Given the description of an element on the screen output the (x, y) to click on. 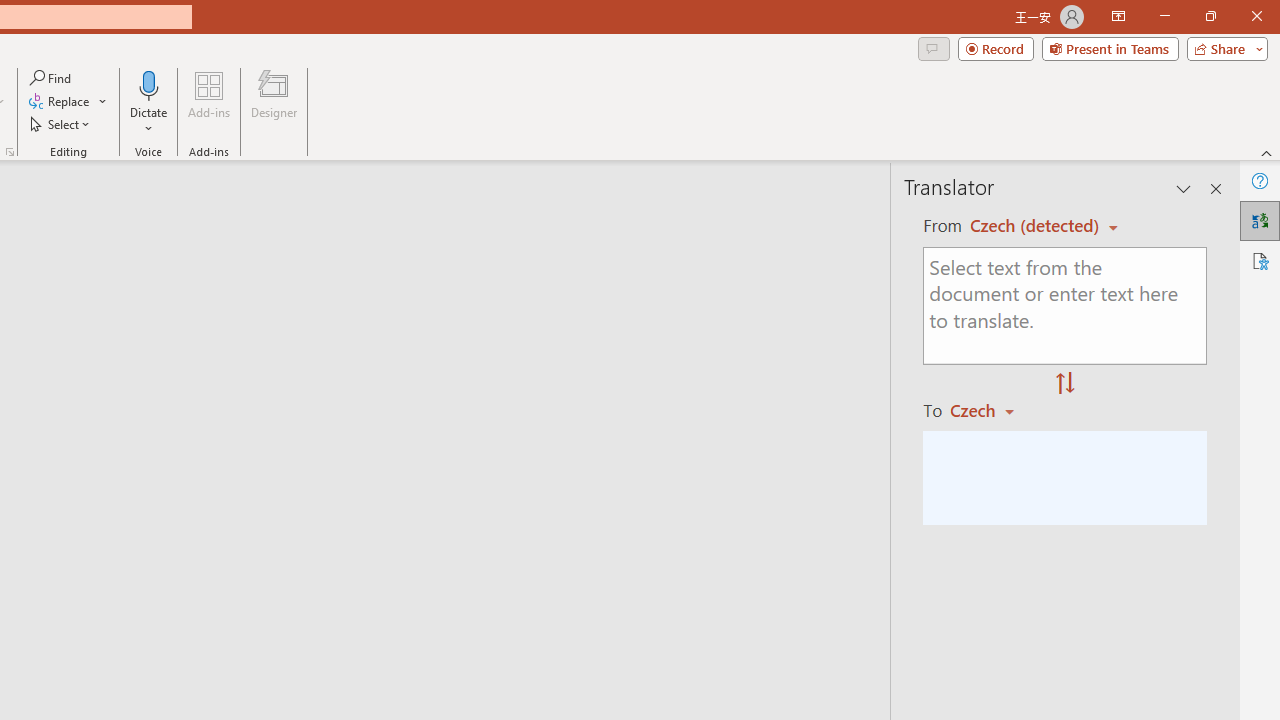
Ribbon Display Options (1118, 16)
Replace... (60, 101)
Select (61, 124)
More Options (149, 121)
Czech (991, 409)
Help (1260, 180)
Dictate (149, 84)
Collapse the Ribbon (1267, 152)
Replace... (68, 101)
Restore Down (1210, 16)
Czech (detected) (1037, 225)
